Given the description of an element on the screen output the (x, y) to click on. 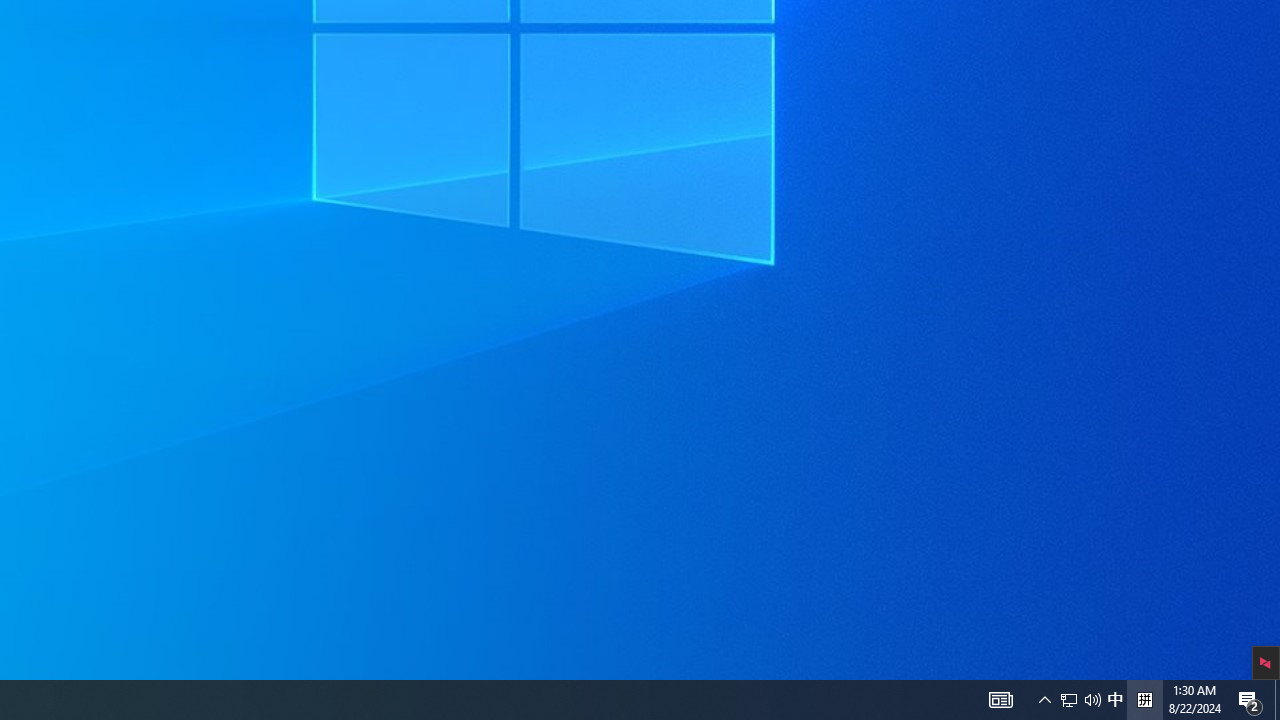
Notification Chevron (1044, 699)
Show desktop (1277, 699)
User Promoted Notification Area (1115, 699)
Tray Input Indicator - Chinese (Simplified, China) (1080, 699)
Q2790: 100% (1144, 699)
Action Center, 2 new notifications (1069, 699)
AutomationID: 4105 (1092, 699)
